Given the description of an element on the screen output the (x, y) to click on. 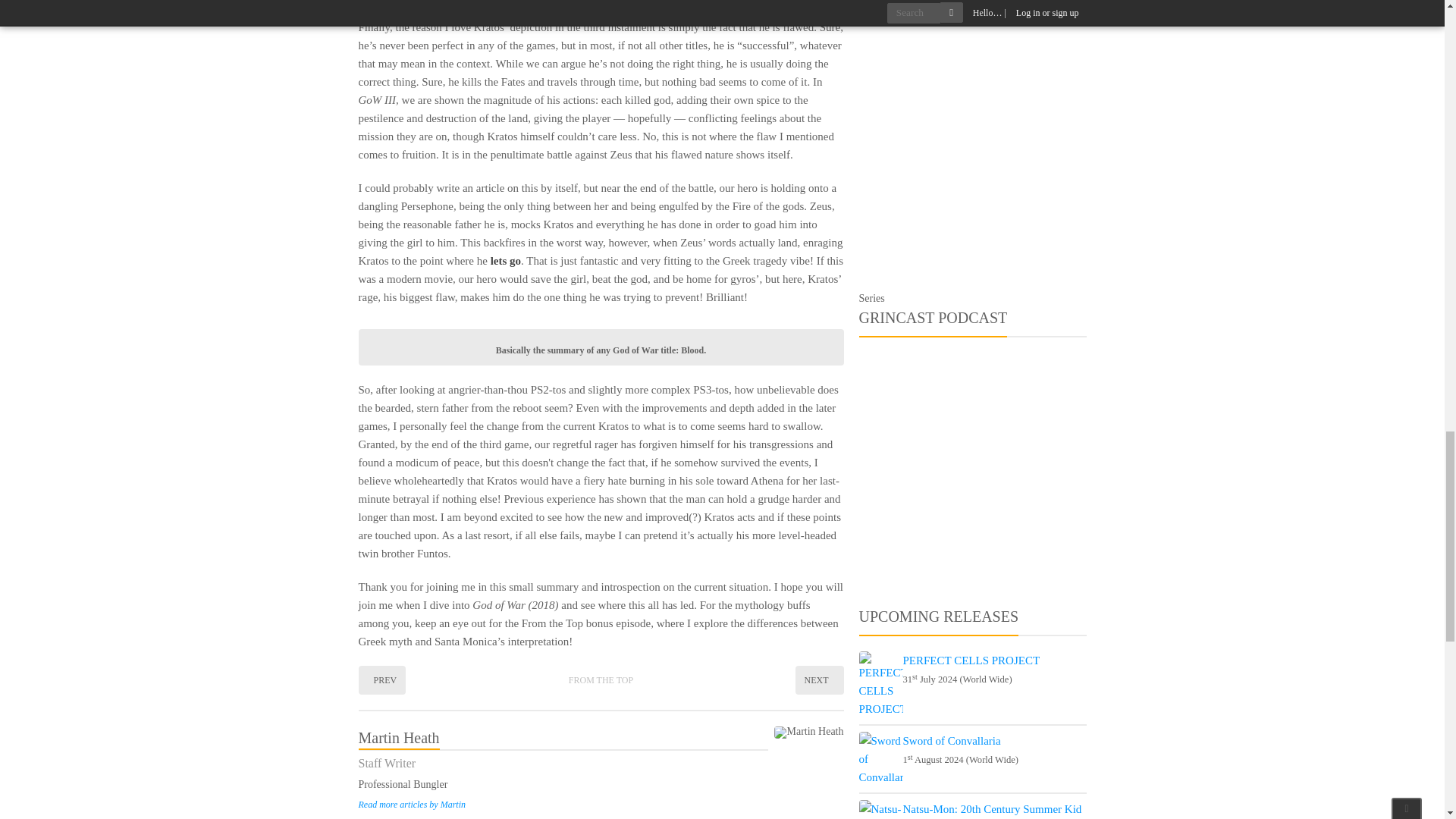
Read more articles by Martin (411, 804)
NEXT (818, 679)
PREV (382, 679)
